Given the description of an element on the screen output the (x, y) to click on. 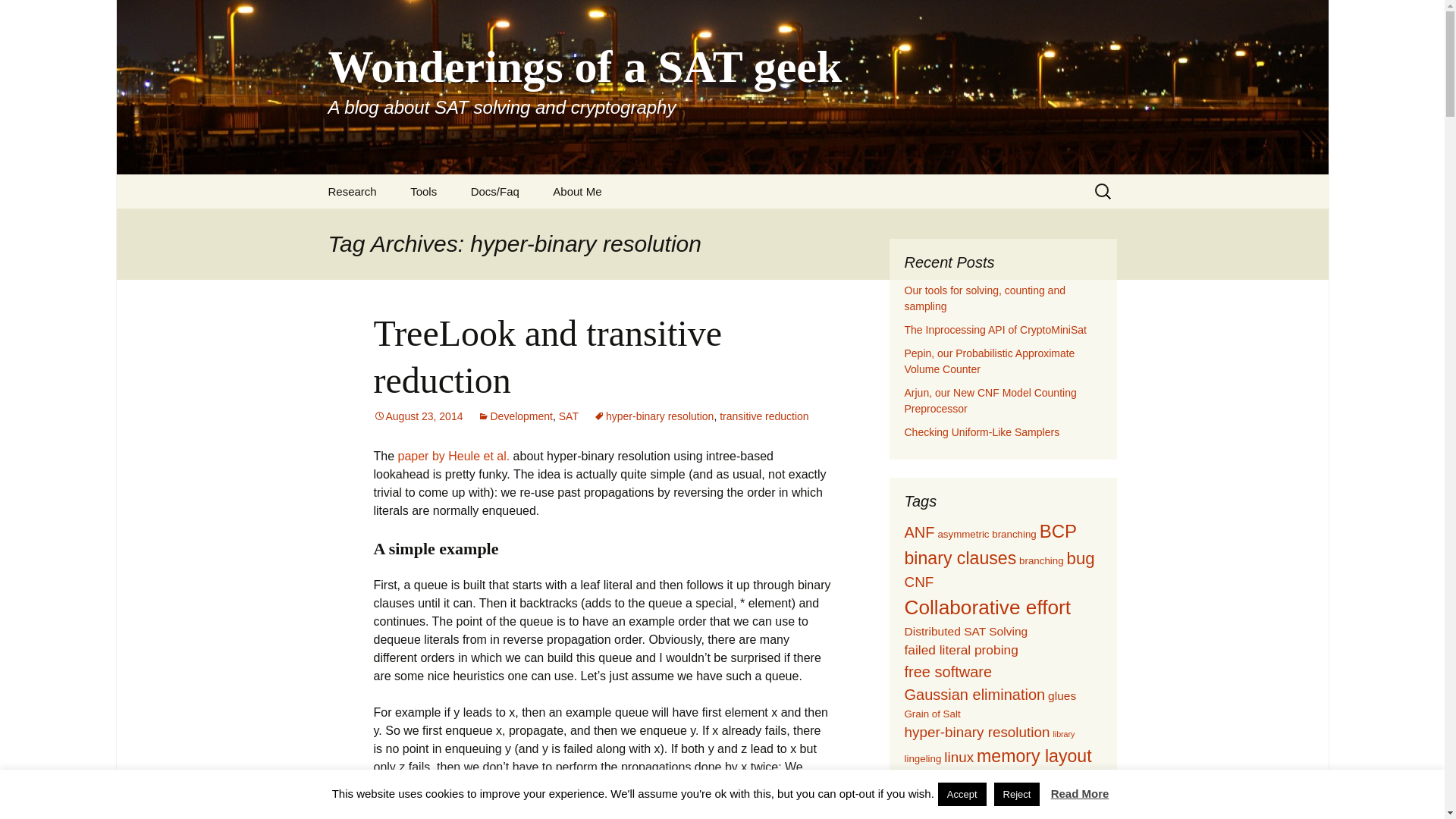
Research (352, 191)
Tools (422, 191)
August 23, 2014 (417, 416)
Development (515, 416)
CryptoMiniSat FAQ (531, 225)
Permalink to TreeLook and transitive reduction (417, 416)
transitive reduction (764, 416)
About Me (576, 191)
Search (18, 15)
paper by Heule et al. (454, 455)
CryptoMiniSat (470, 225)
hyper-binary resolution (653, 416)
Talks (388, 225)
TreeLook and transitive reduction (546, 356)
